Given the description of an element on the screen output the (x, y) to click on. 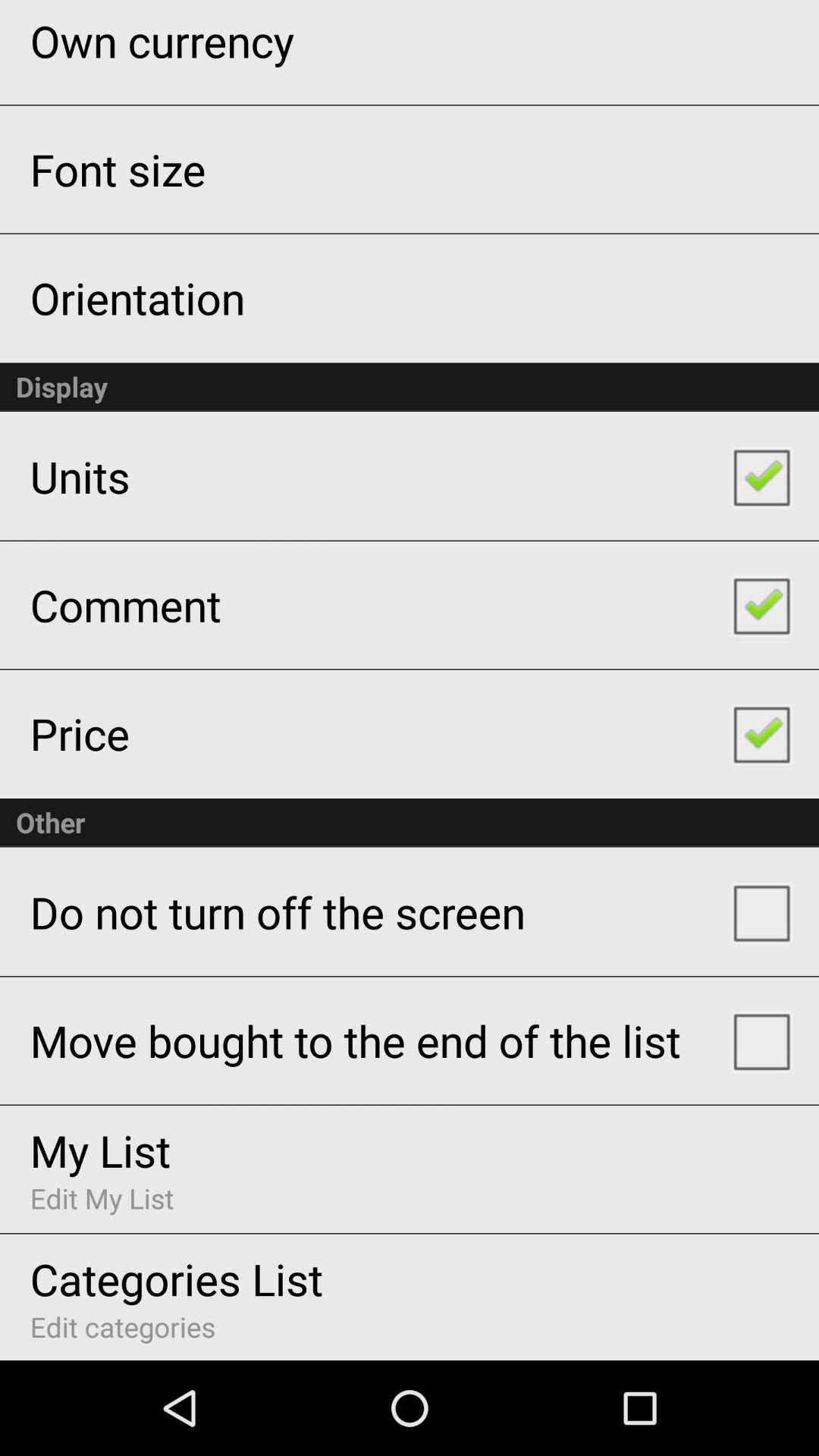
choose the icon below comment (79, 733)
